Given the description of an element on the screen output the (x, y) to click on. 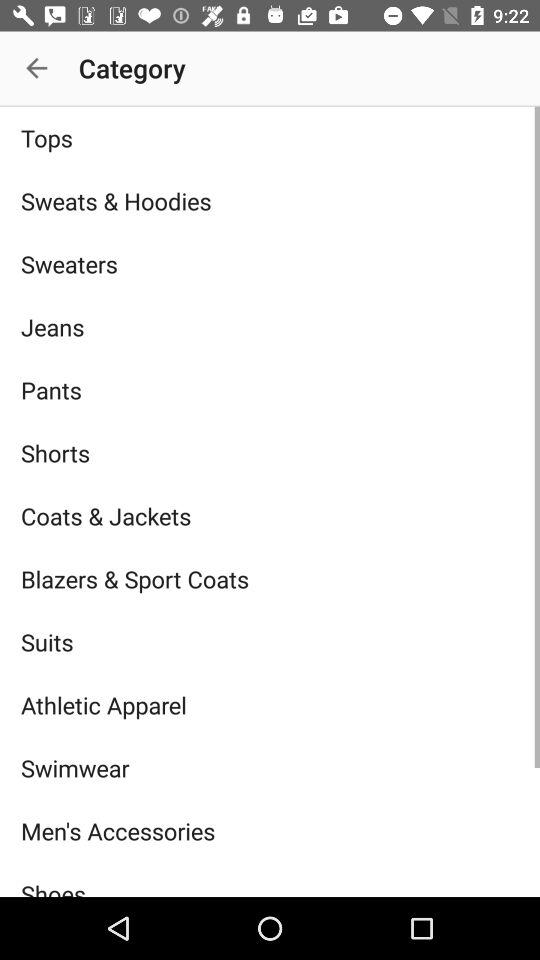
jump until the pants icon (270, 389)
